Given the description of an element on the screen output the (x, y) to click on. 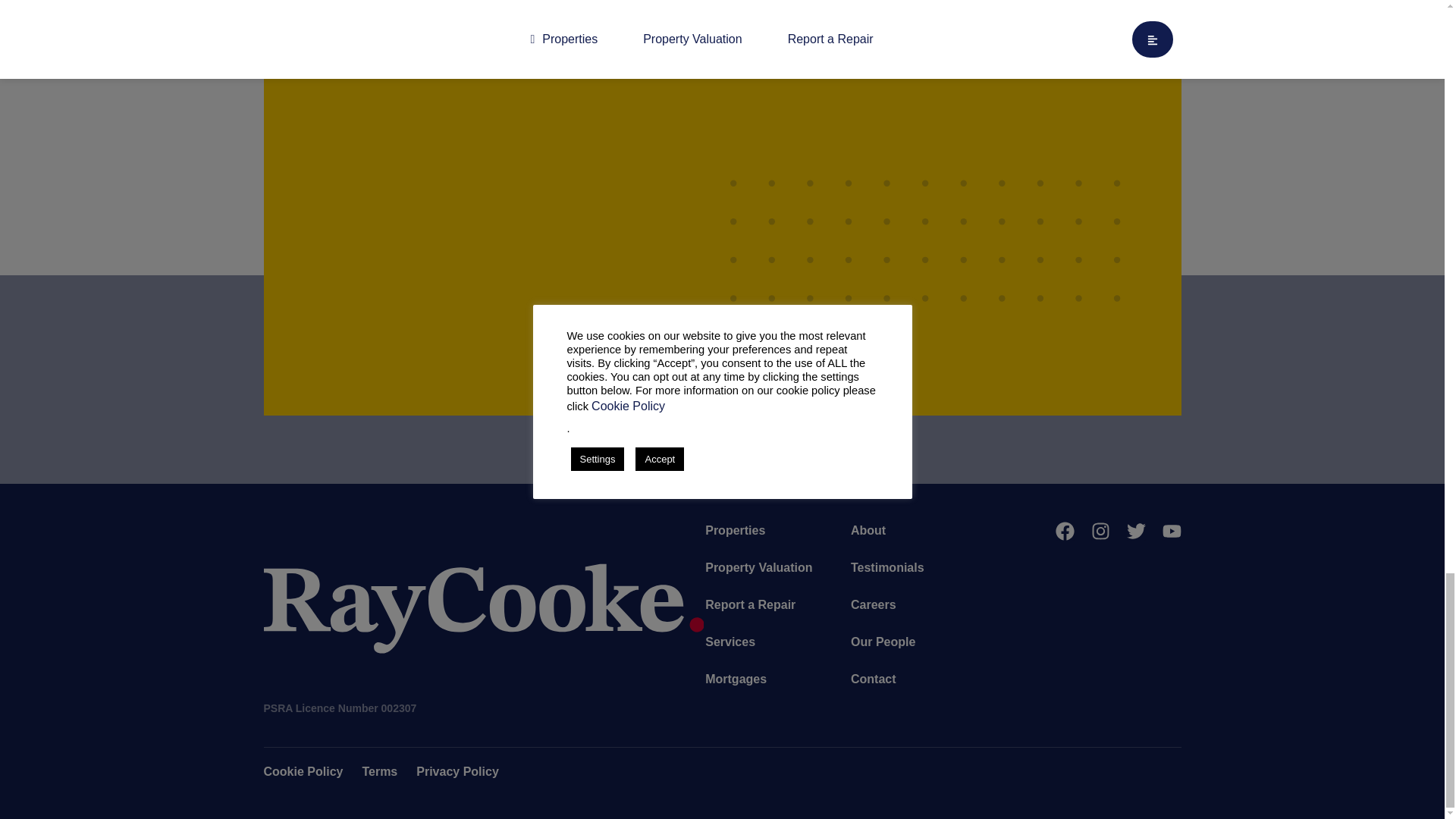
Services (729, 642)
Property Valuation (758, 567)
Report a Repair (749, 605)
Mortgages (735, 679)
Properties (734, 530)
